Given the description of an element on the screen output the (x, y) to click on. 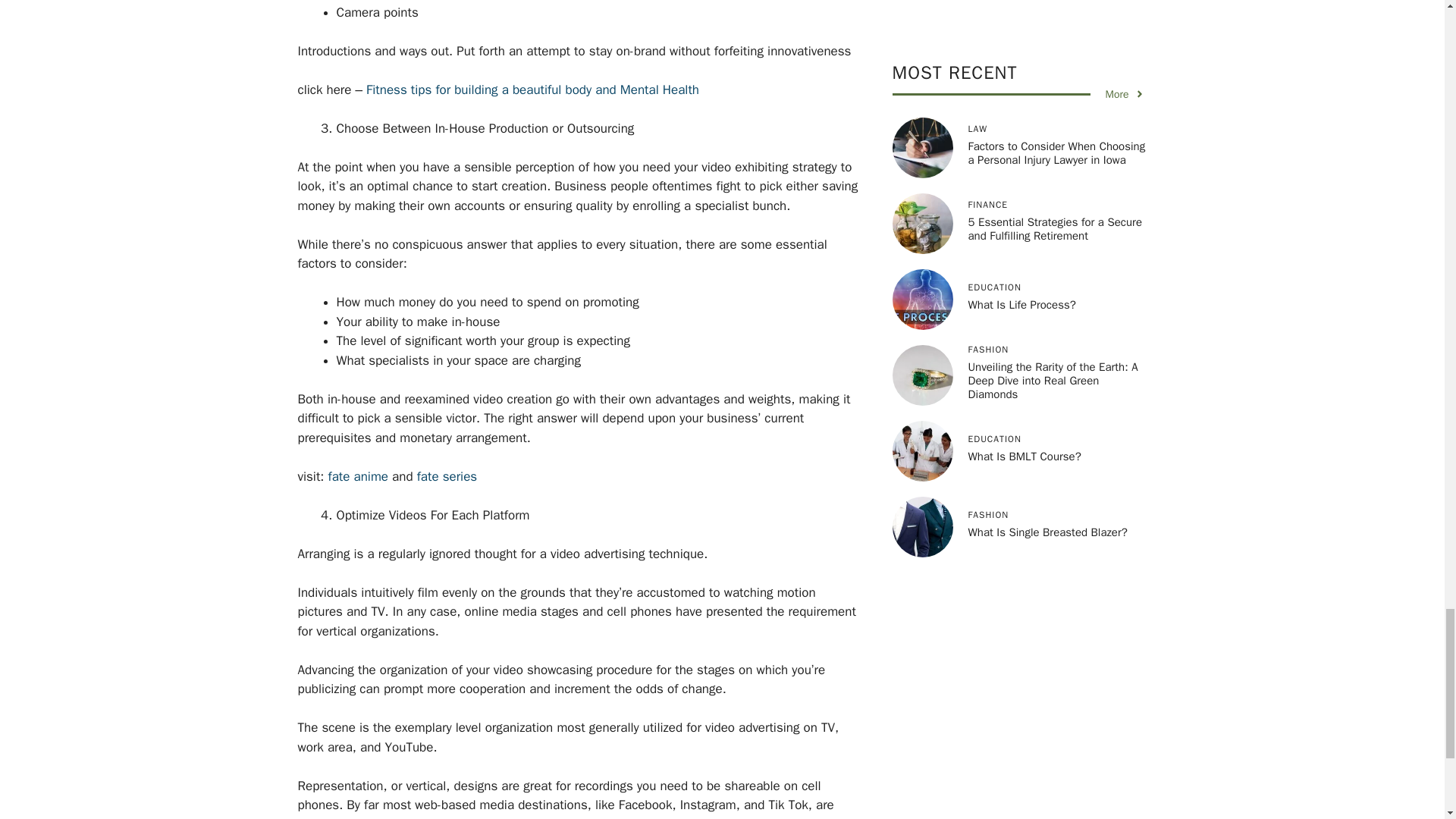
Fitness tips for building a beautiful body and Mental Health (530, 89)
fate series (446, 476)
fate anime (358, 476)
